Given the description of an element on the screen output the (x, y) to click on. 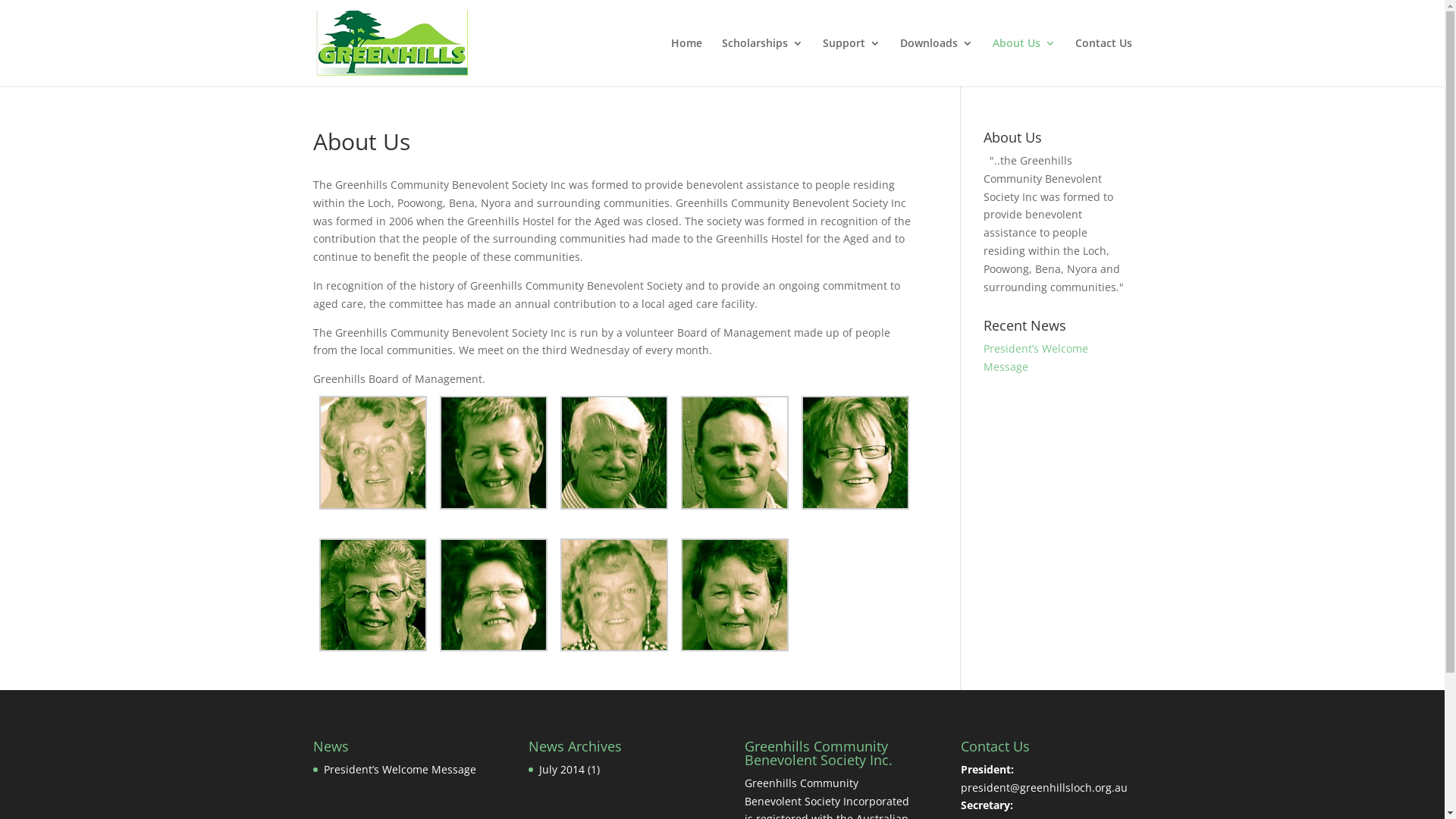
Downloads Element type: text (935, 61)
Home Element type: text (685, 61)
Scholarships Element type: text (762, 61)
About Us Element type: text (1022, 61)
Support Element type: text (850, 61)
Contact Us Element type: text (1103, 61)
July 2014 Element type: text (561, 769)
president@greenhillsloch.org.au Element type: text (1043, 787)
